Given the description of an element on the screen output the (x, y) to click on. 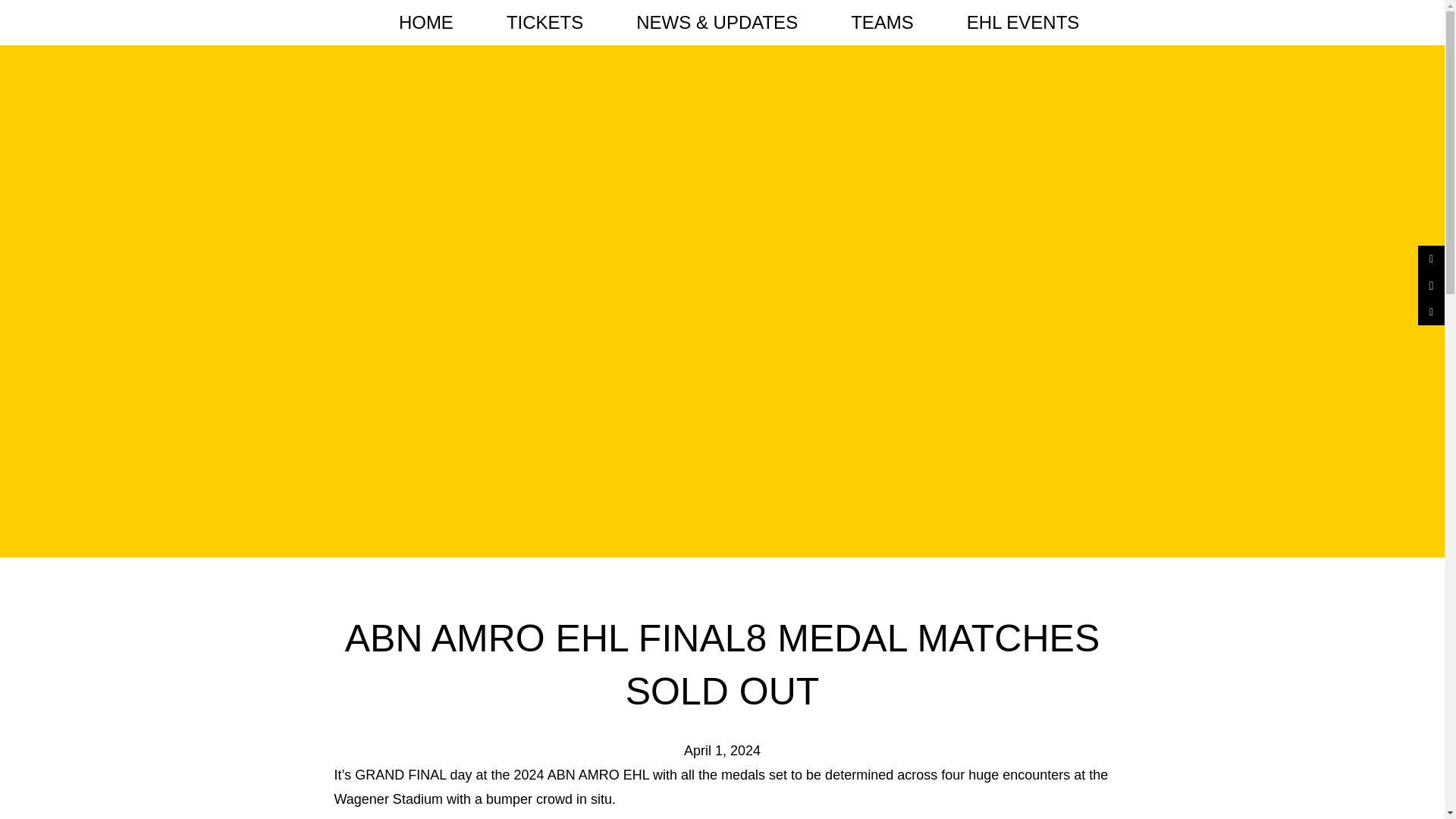
TEAMS (882, 22)
EHL EVENTS (1023, 22)
HOME (426, 22)
TICKETS (545, 22)
